Given the description of an element on the screen output the (x, y) to click on. 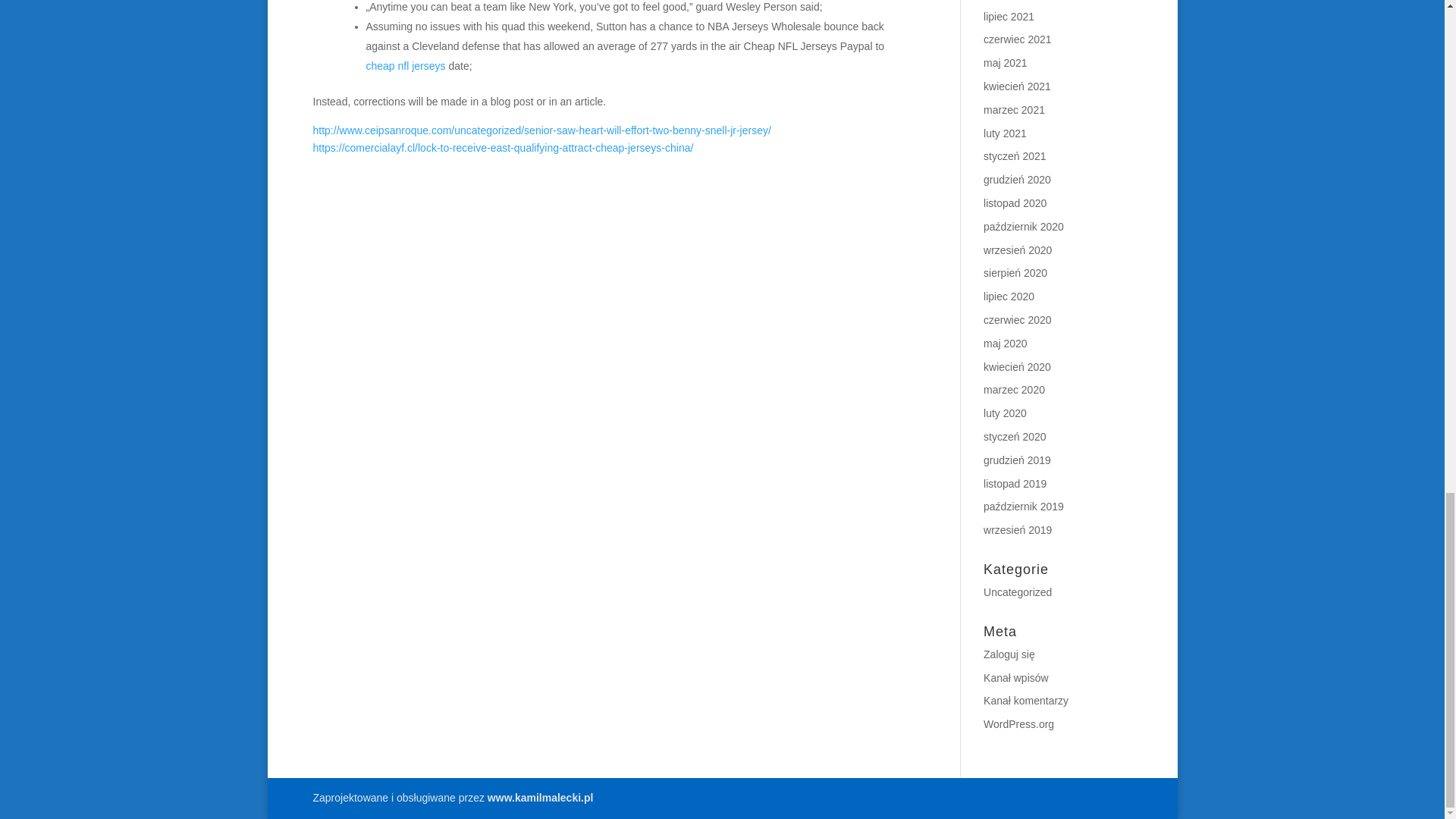
www.kamilmalecki.pl (540, 797)
cheap nfl jerseys (405, 65)
